Given the description of an element on the screen output the (x, y) to click on. 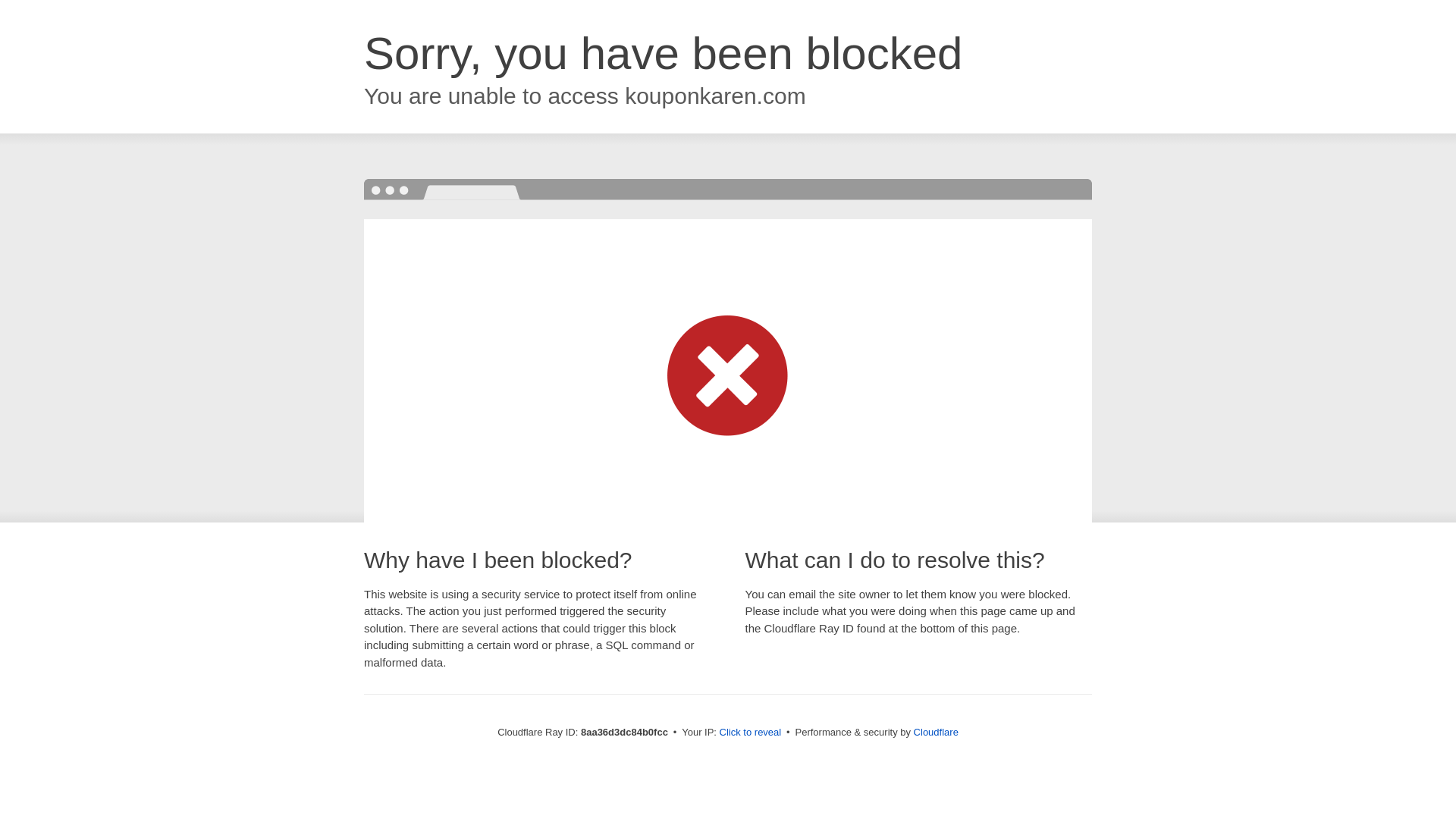
Cloudflare (936, 731)
Click to reveal (750, 732)
